Given the description of an element on the screen output the (x, y) to click on. 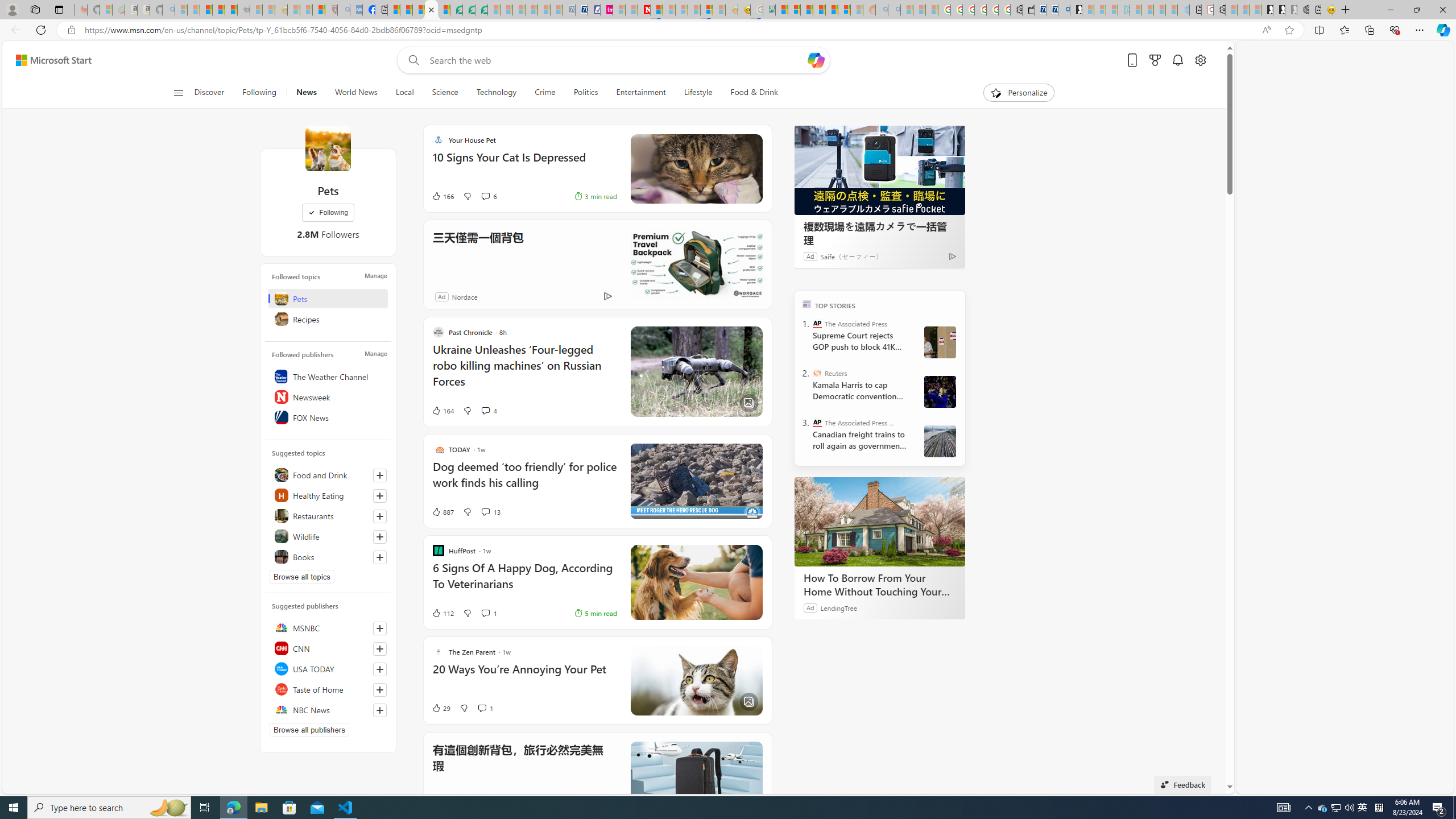
View comments 1 Comment (485, 708)
Food & Drink (753, 92)
887 Like (442, 512)
Food and Drink (327, 474)
164 Like (442, 410)
